Given the description of an element on the screen output the (x, y) to click on. 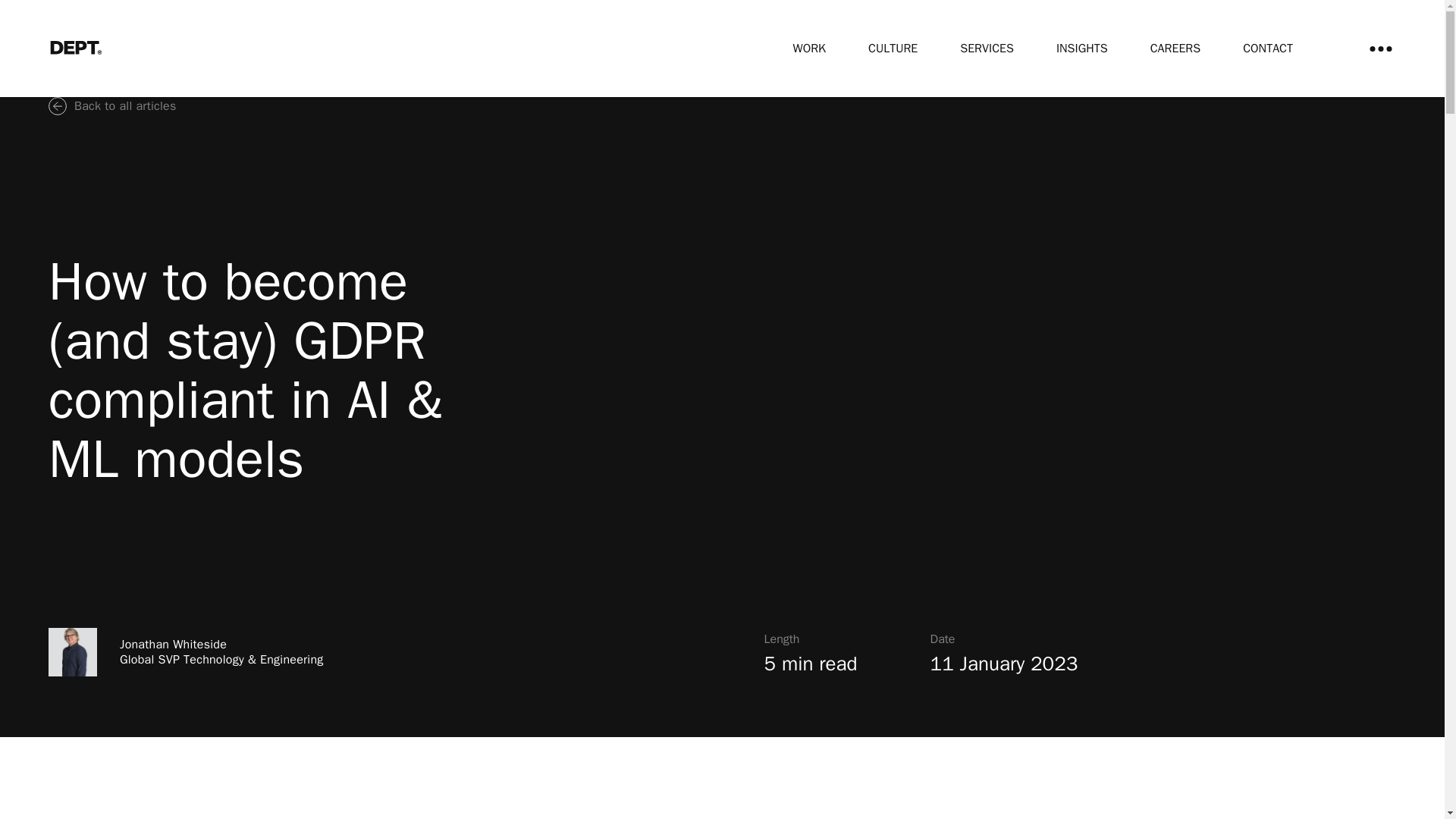
CAREERS (1174, 48)
CONTACT (1267, 48)
INSIGHTS (1082, 48)
Toggle menu (1380, 48)
SERVICES (986, 48)
CULTURE (892, 48)
WORK (809, 48)
